Given the description of an element on the screen output the (x, y) to click on. 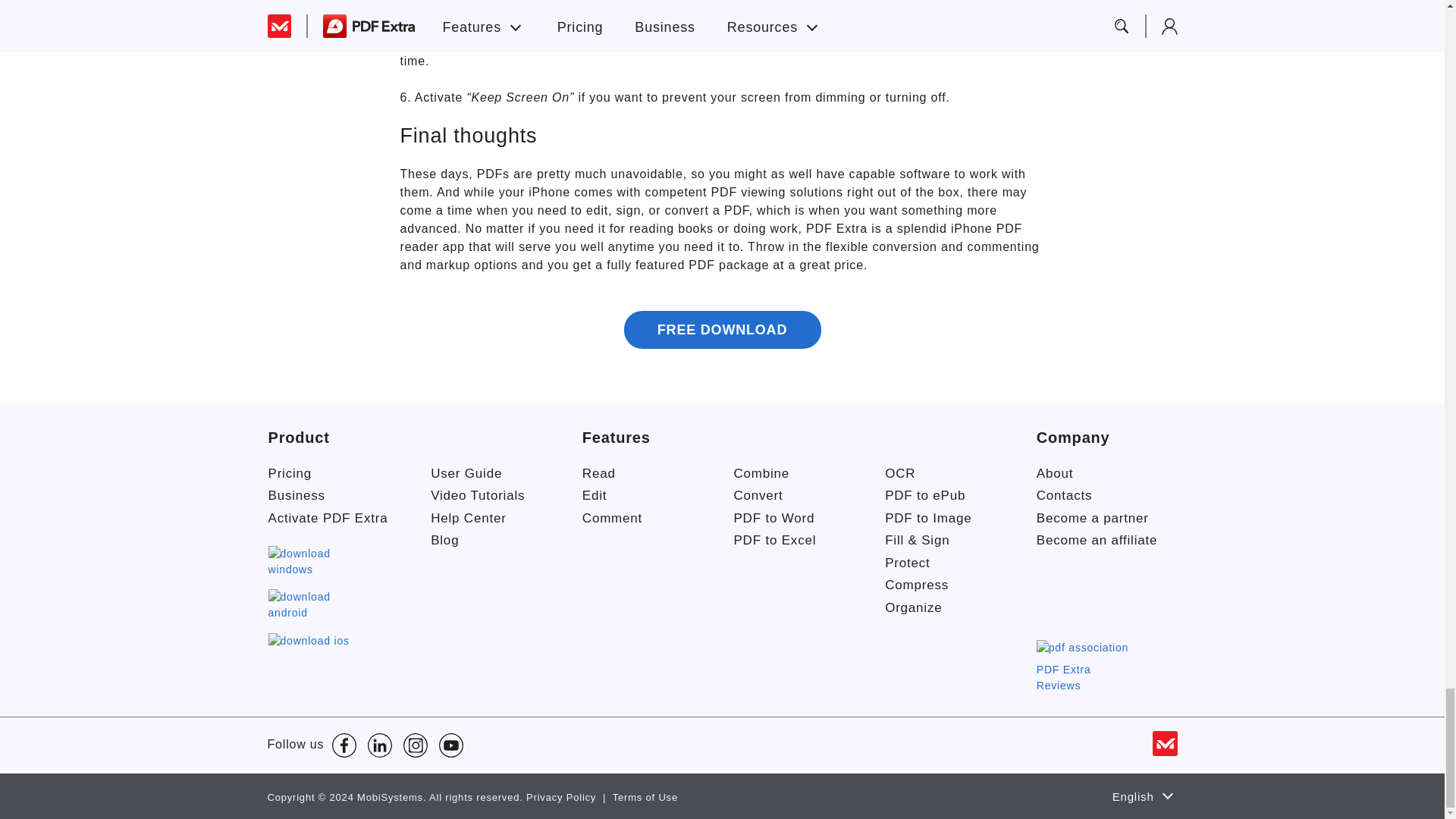
Customer reviews powered by Trustpilot (1101, 597)
